Given the description of an element on the screen output the (x, y) to click on. 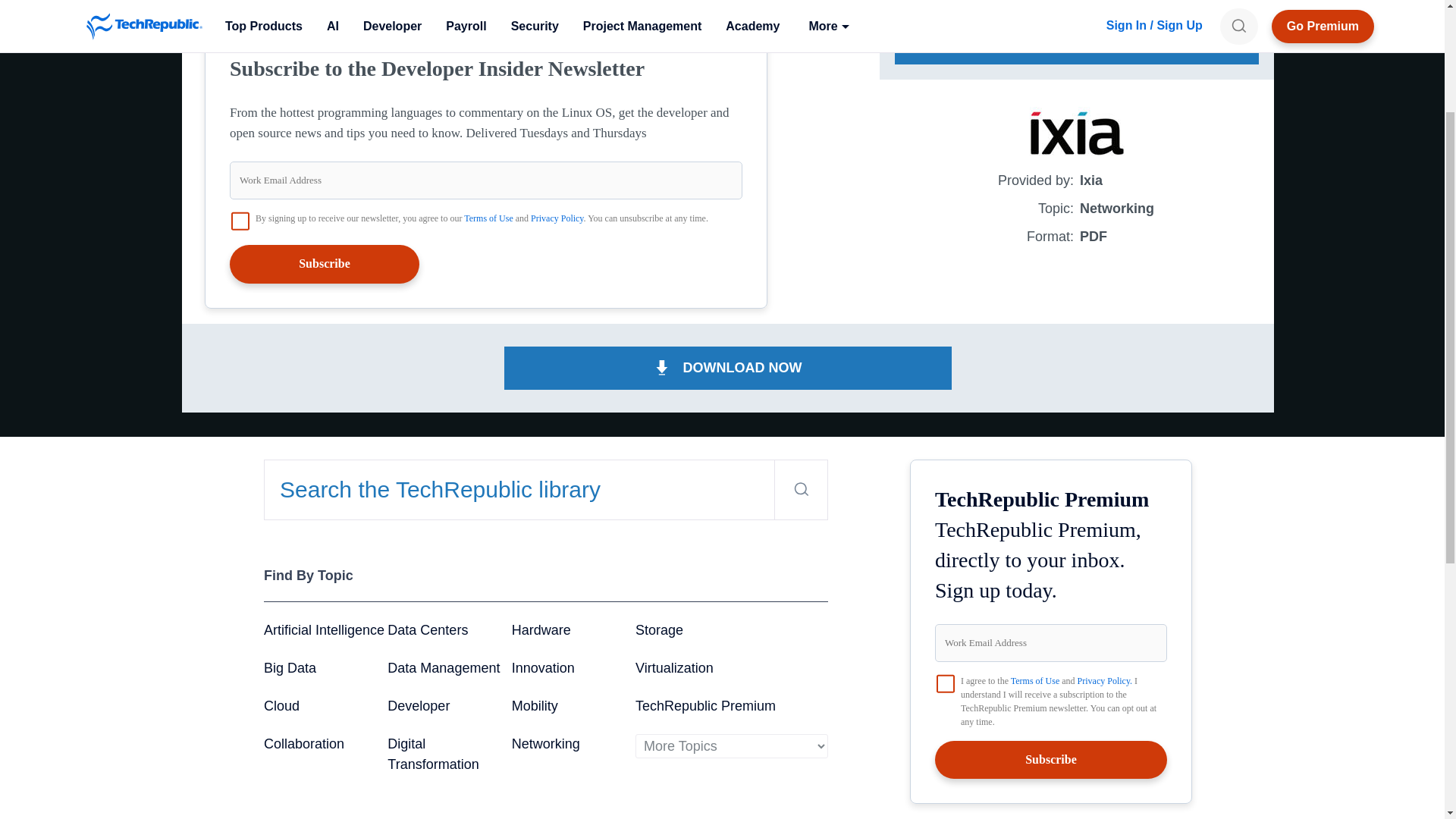
DOWNLOAD NOW (727, 367)
Artificial Intelligence (323, 630)
Subscribe (324, 263)
on (945, 683)
Privacy Policy (557, 217)
DOWNLOAD NOW (1077, 42)
Terms of Use (488, 217)
on (239, 221)
